Given the description of an element on the screen output the (x, y) to click on. 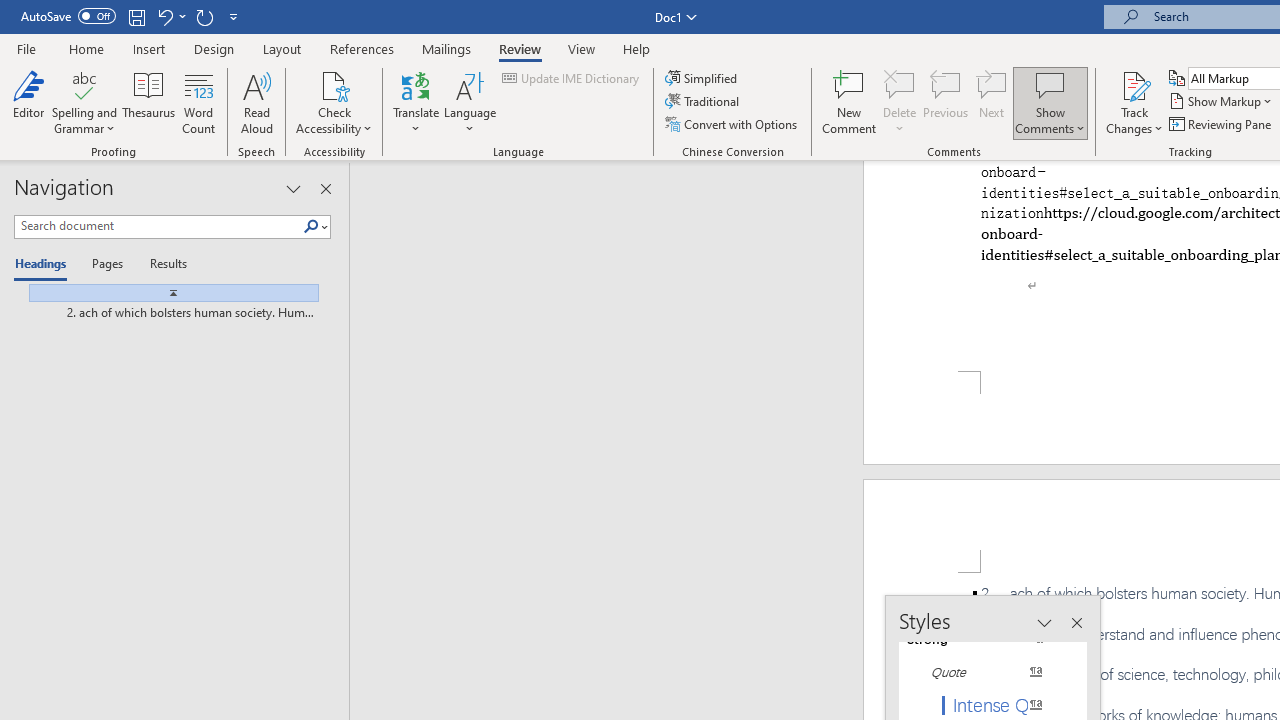
Traditional (703, 101)
Jump to the beginning (166, 292)
Show Markup (1222, 101)
Layout (282, 48)
Strong (984, 638)
Quick Access Toolbar (131, 16)
Spelling and Grammar (84, 84)
Home (86, 48)
Spelling and Grammar (84, 102)
Previous (946, 102)
Next (991, 102)
Mailings (447, 48)
Close pane (325, 188)
Results (161, 264)
Design (214, 48)
